Given the description of an element on the screen output the (x, y) to click on. 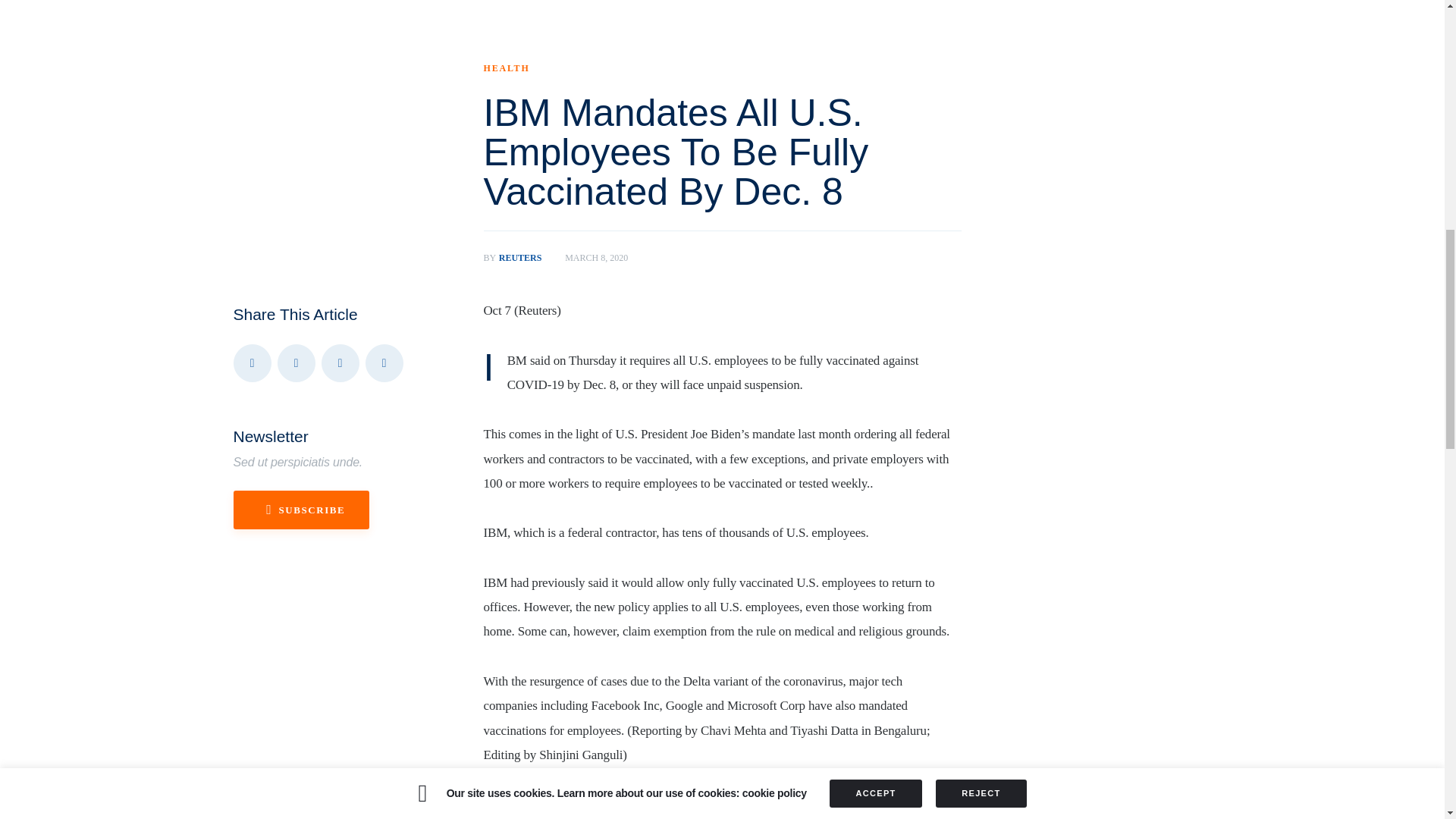
Copy URL to clipboard (384, 362)
HEALTH (524, 257)
